Given the description of an element on the screen output the (x, y) to click on. 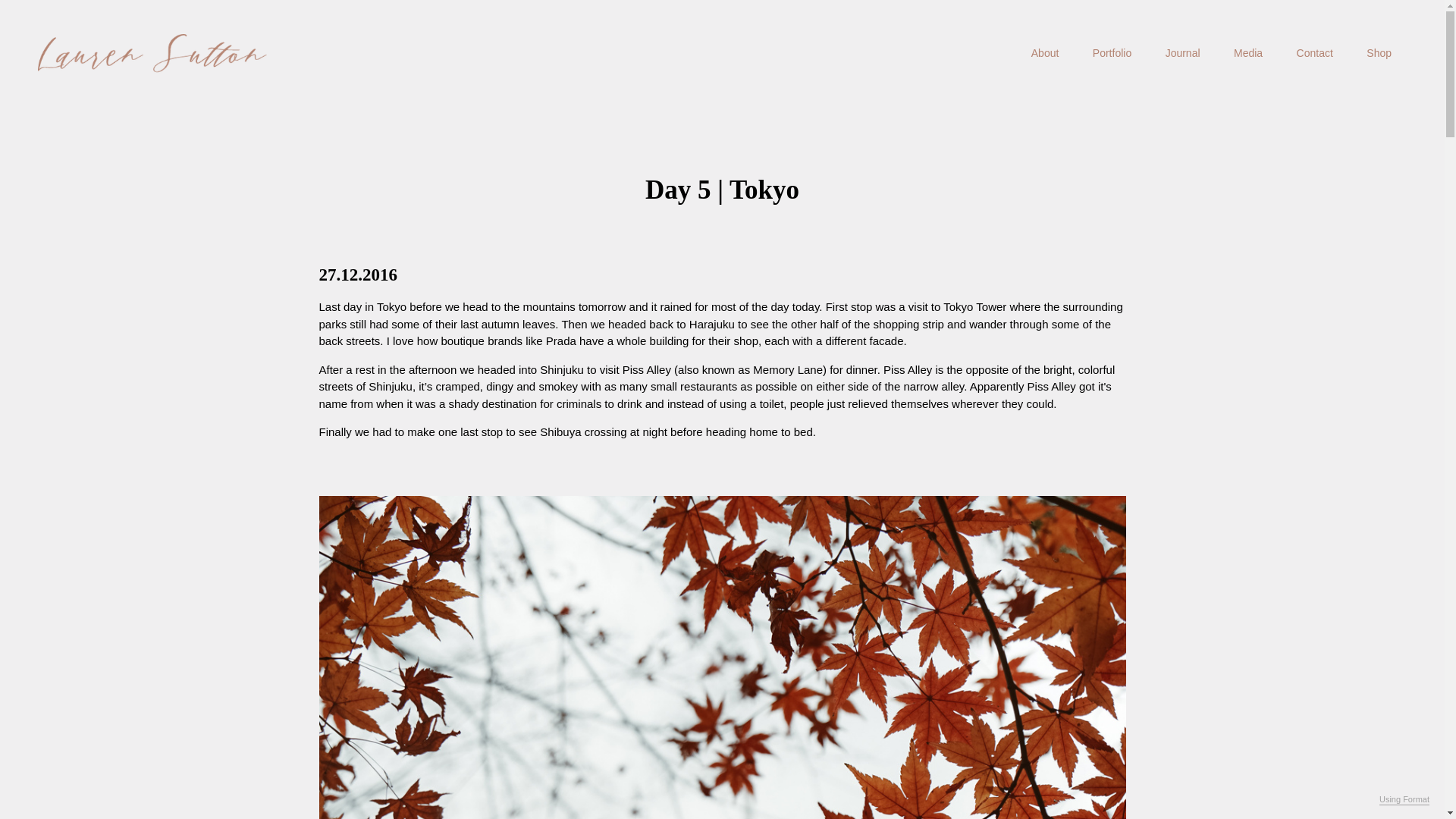
Shop (1379, 52)
Contact (1315, 52)
About (1044, 52)
Media (1247, 52)
Portfolio (1112, 52)
Journal (1182, 52)
